Given the description of an element on the screen output the (x, y) to click on. 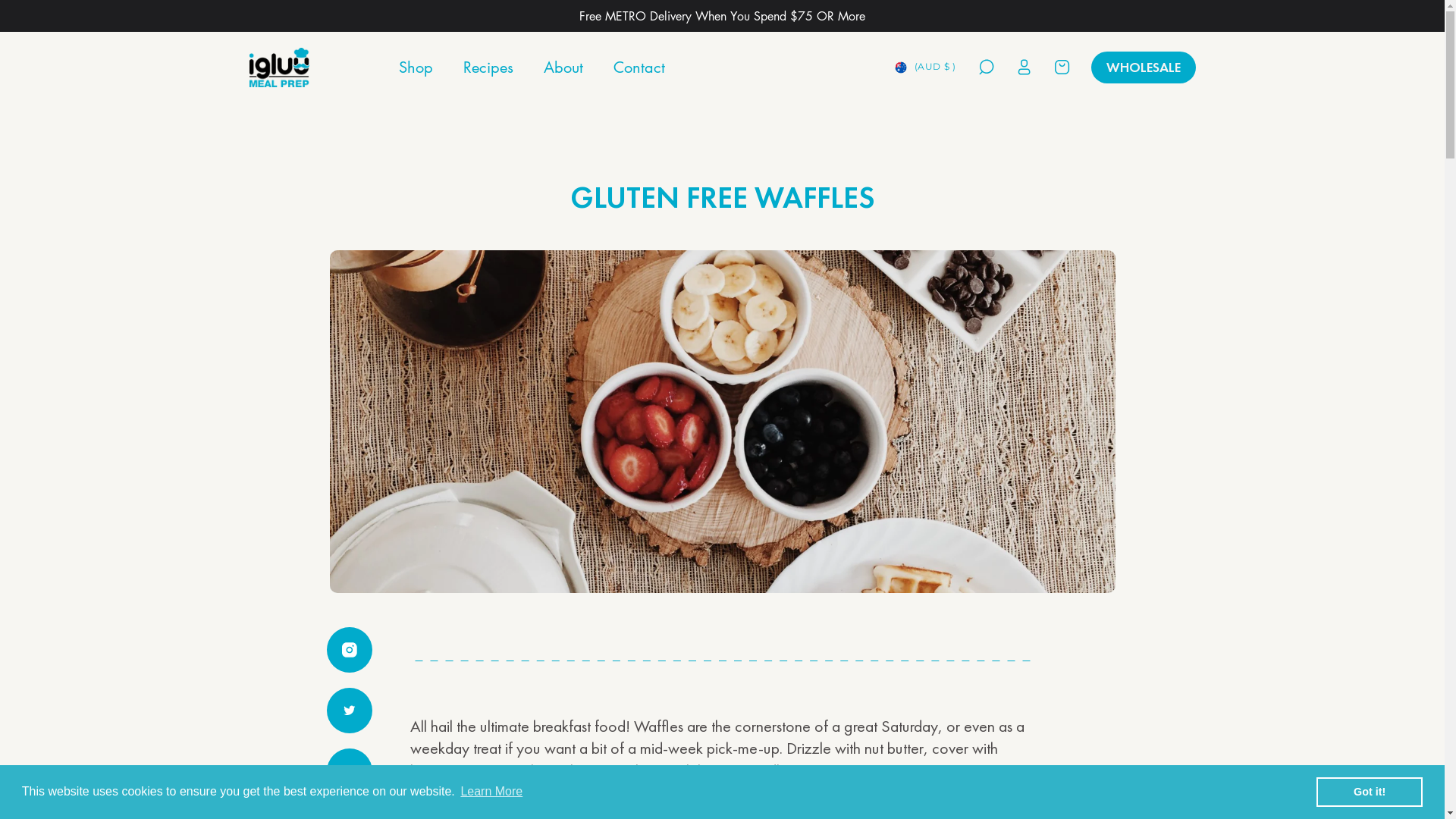
Facebook Element type: text (348, 770)
Recipes Element type: text (488, 67)
(AUD $ ) Element type: text (927, 67)
Got it! Element type: text (1369, 791)
Contact Element type: text (639, 67)
About Element type: text (563, 67)
Cart Element type: text (1061, 66)
Instagram Element type: text (348, 649)
Twitter Element type: text (348, 710)
Log in Element type: text (1023, 66)
Learn More Element type: text (491, 791)
Free METRO Delivery When You Spend $75 OR More Element type: text (722, 15)
WHOLESALE Element type: text (1142, 67)
